Given the description of an element on the screen output the (x, y) to click on. 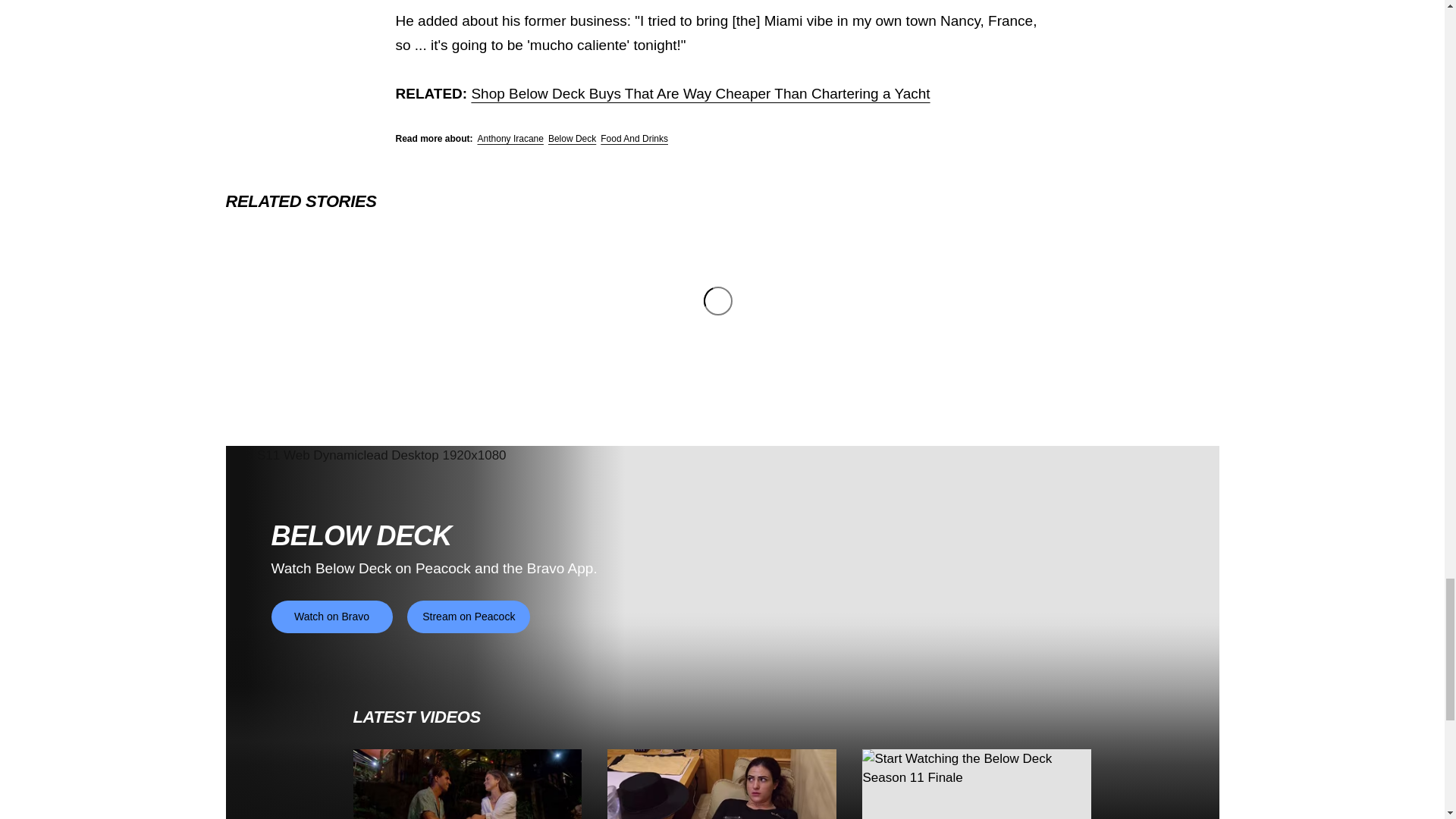
Start Watching the Below Deck Season 11 Finale (975, 784)
